Given the description of an element on the screen output the (x, y) to click on. 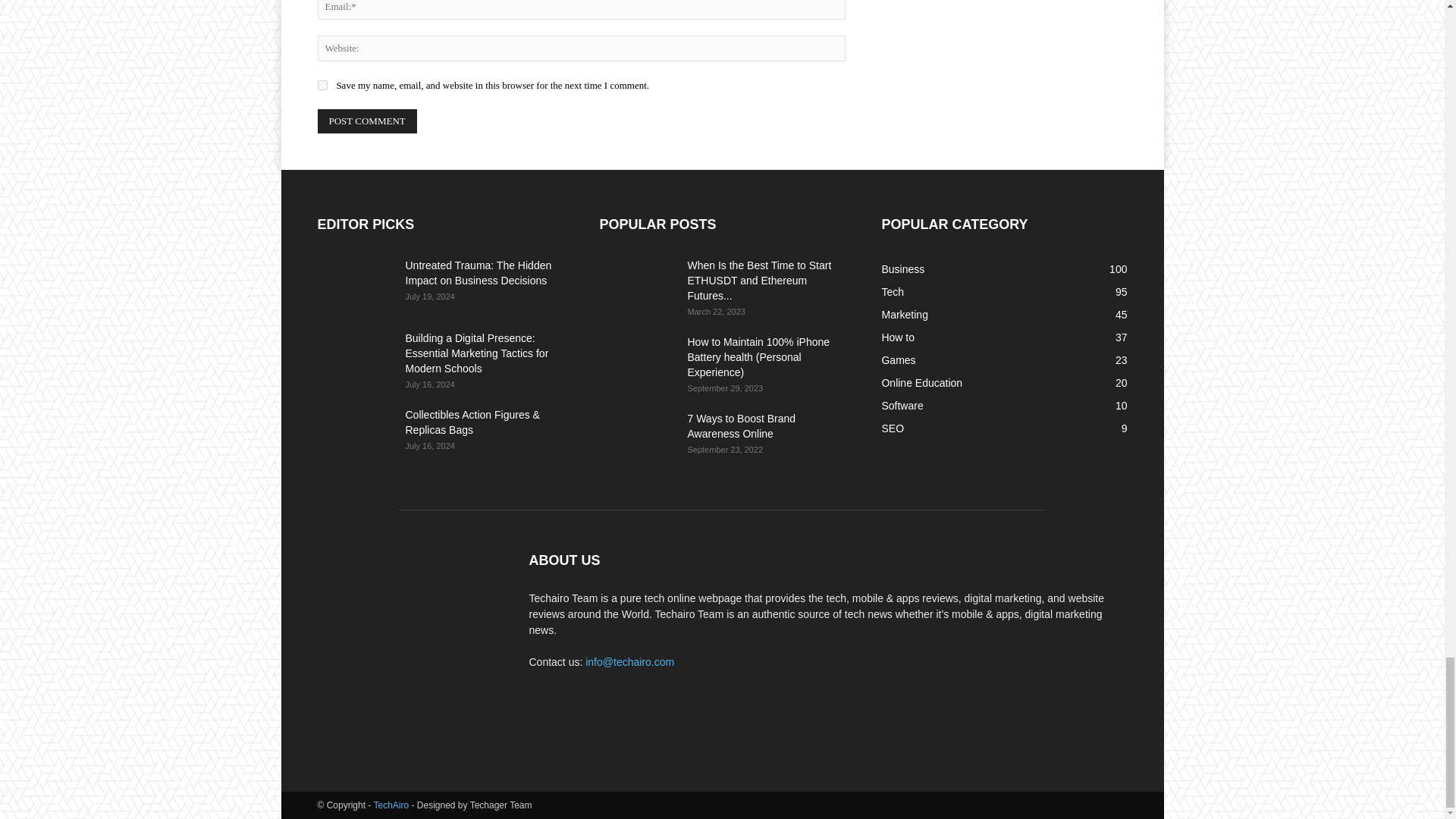
Post Comment (366, 120)
yes (321, 85)
